Given the description of an element on the screen output the (x, y) to click on. 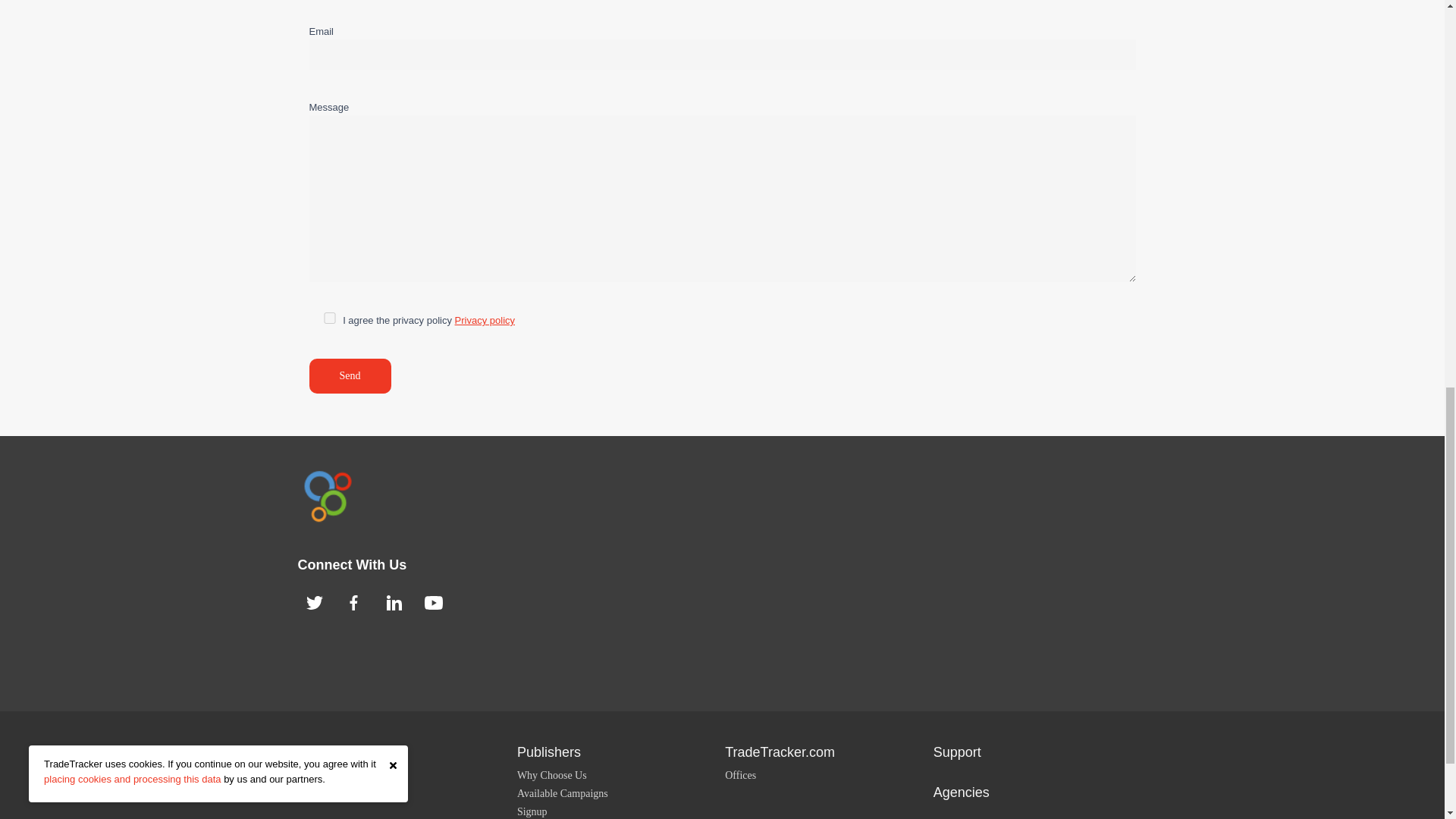
Send (349, 375)
TradeTracker on YouTube (433, 602)
Send (349, 375)
Signup (531, 811)
TradeTracker (326, 495)
Offices (740, 775)
Why Choose Us (551, 775)
Login (321, 793)
Why Choose Us (343, 775)
I agree the privacy policy (328, 317)
